Given the description of an element on the screen output the (x, y) to click on. 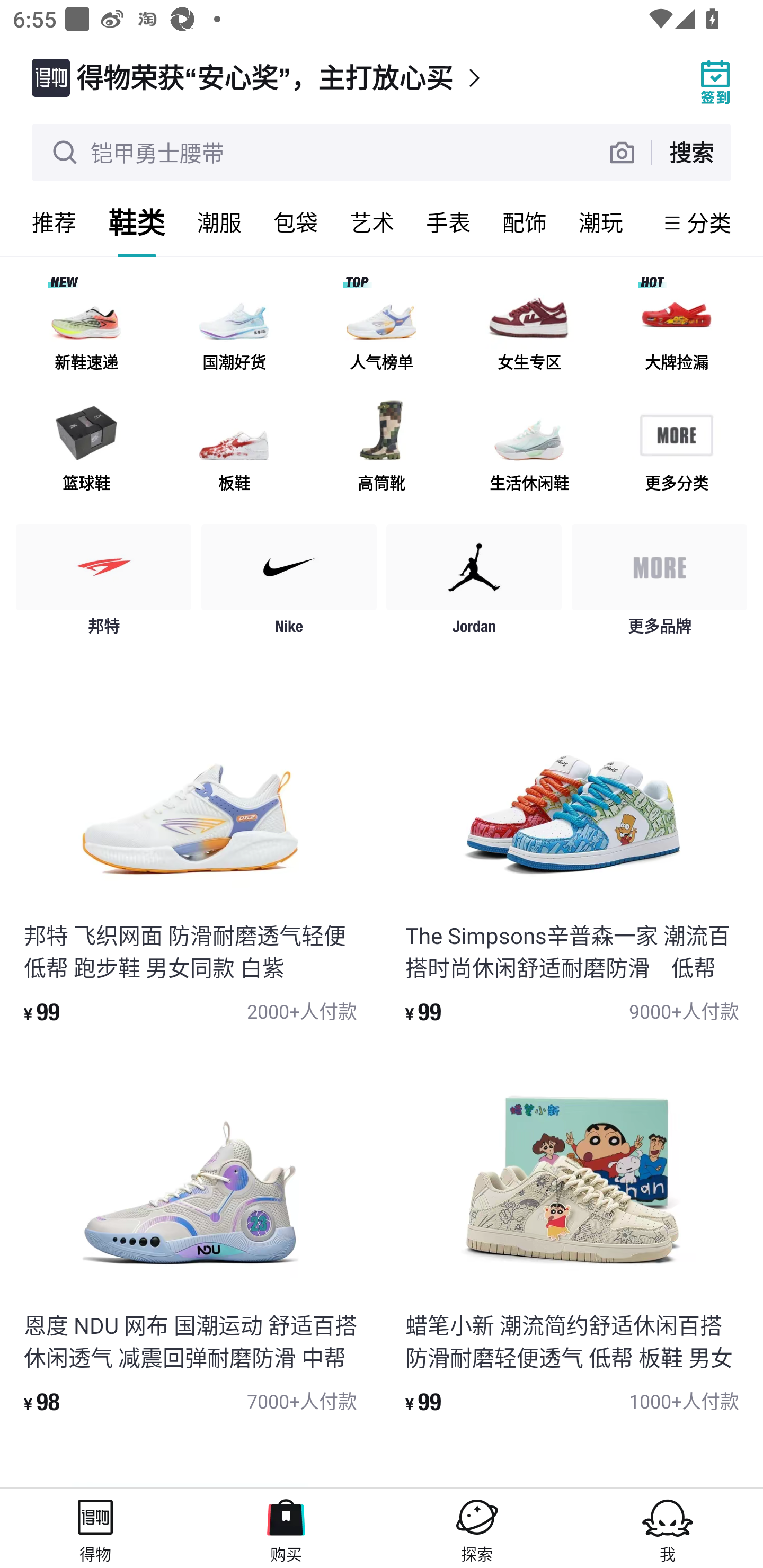
铠甲勇士腰带 搜索 (381, 152)
搜索 (690, 152)
推荐 (54, 222)
鞋类 (136, 222)
潮服 (219, 222)
包袋 (295, 222)
艺术 (372, 222)
手表 (448, 222)
配饰 (524, 222)
潮玩 (601, 222)
分类 (708, 222)
新鞋速递 (86, 329)
国潮好货 (233, 329)
人气榜单 (381, 329)
女生专区 (528, 329)
大牌捡漏 (676, 329)
篮球鞋 (86, 450)
板鞋 (233, 450)
高筒靴 (381, 450)
生活休闲鞋 (528, 450)
更多分类 (676, 450)
邦特 (103, 583)
Nike (288, 583)
Jordan (473, 583)
更多品牌 (658, 583)
得物 (95, 1528)
购买 (285, 1528)
探索 (476, 1528)
我 (667, 1528)
